Given the description of an element on the screen output the (x, y) to click on. 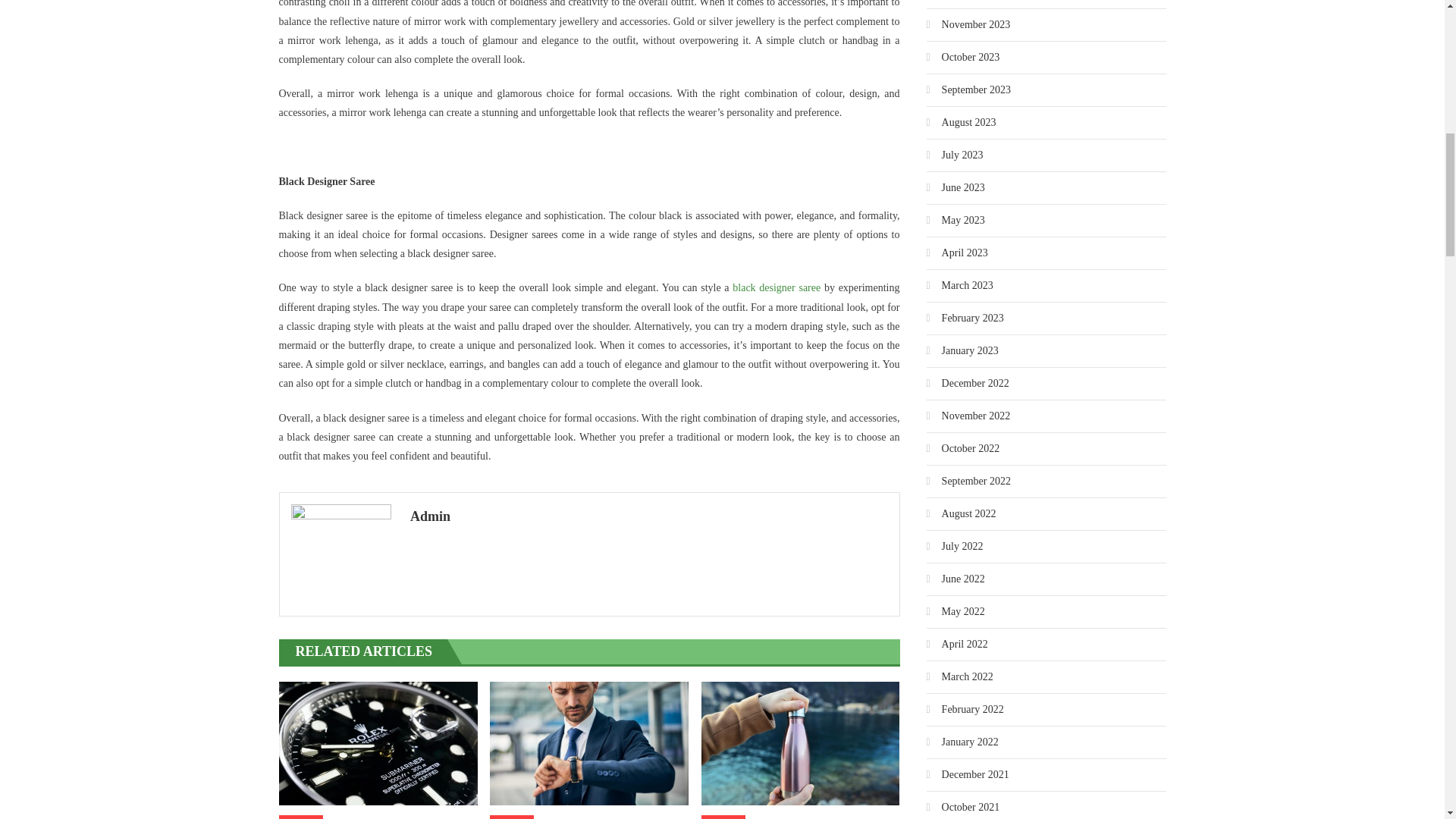
Is It Worth It To Buy A New Rolex Submariner In 2022 (378, 743)
black designer saree (776, 287)
3 Essential Tips Before You Visit A Rolex Store (588, 743)
Why Should You Use A Stainless Steel Bottle (800, 743)
